Given the description of an element on the screen output the (x, y) to click on. 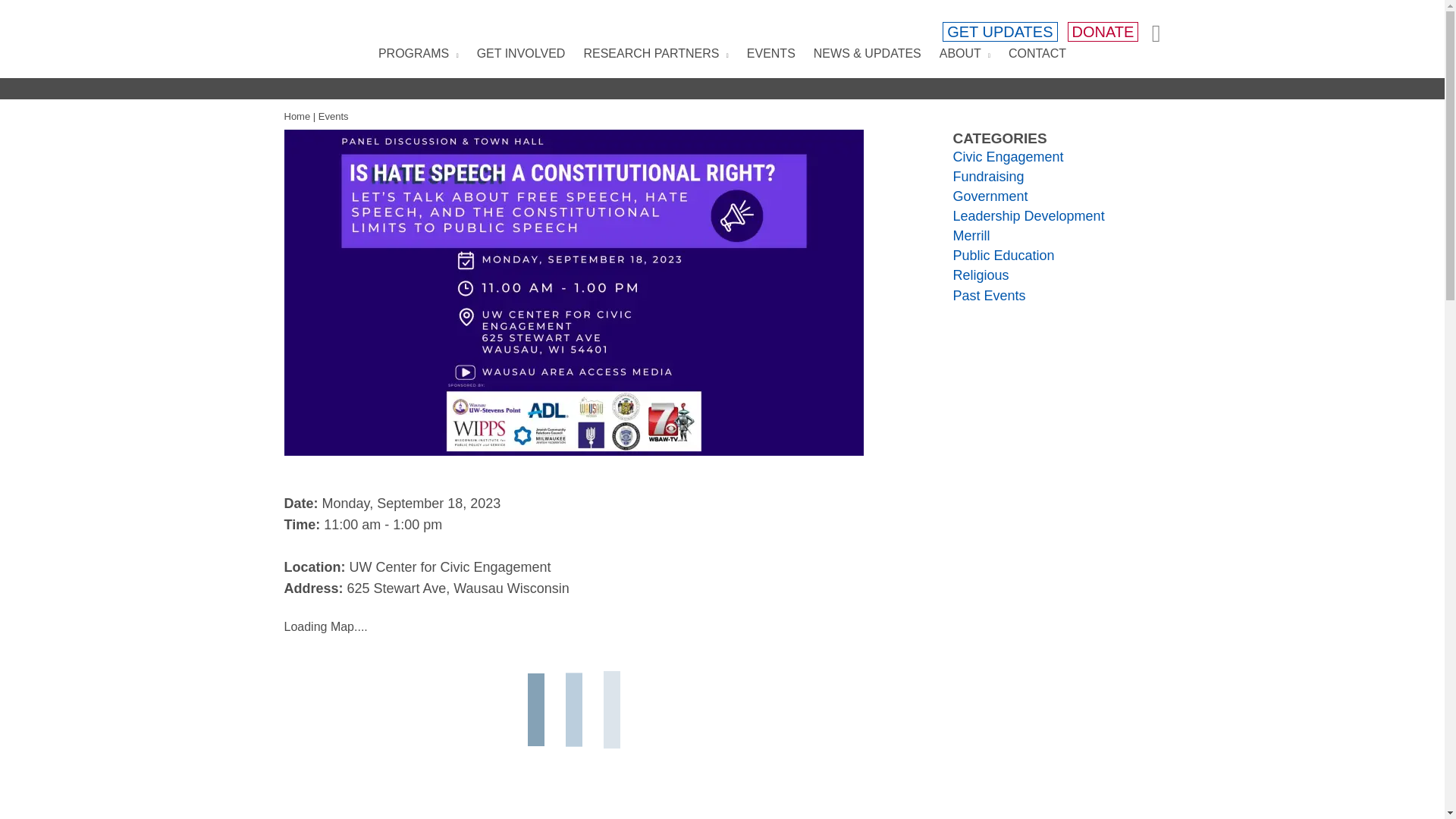
GET UPDATES (999, 31)
DONATE (1102, 31)
